Given the description of an element on the screen output the (x, y) to click on. 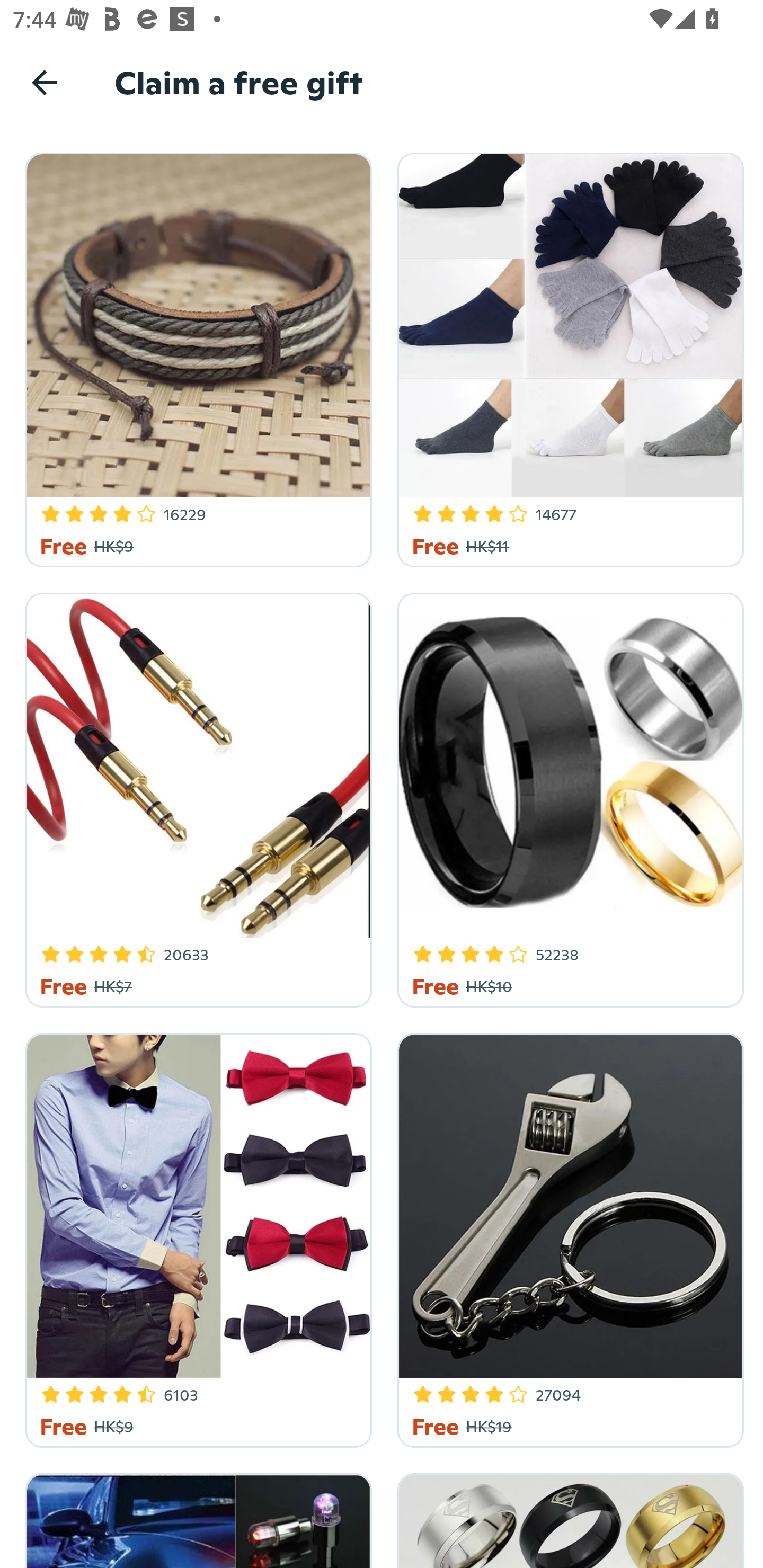
Navigate up (44, 82)
3.8 Star Rating 16229 Free HK$9 (195, 356)
4.2 Star Rating 14677 Free HK$11 (566, 356)
4.3 Star Rating 20633 Free HK$7 (195, 797)
4.2 Star Rating 52238 Free HK$10 (566, 797)
4.4 Star Rating 6103 Free HK$9 (195, 1237)
4 Star Rating 27094 Free HK$19 (566, 1237)
